Given the description of an element on the screen output the (x, y) to click on. 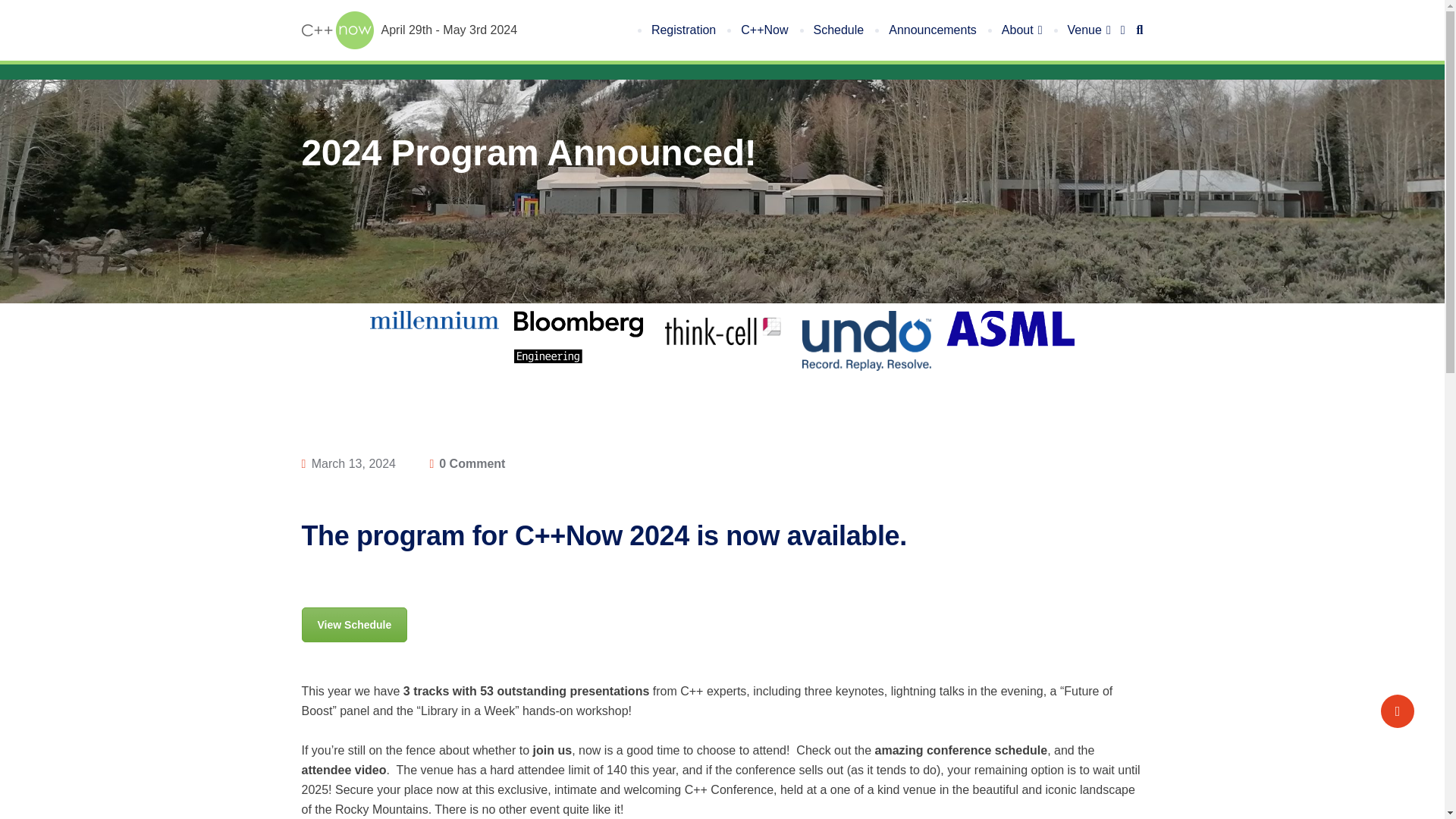
3 tracks with 53 outstanding presentations (526, 691)
Undo (866, 341)
Registration (681, 30)
Bloomberg Engineering (578, 337)
amazing conference schedule (961, 750)
millennium (434, 320)
attendee video (344, 770)
Schedule (837, 30)
View Schedule (354, 624)
Venue (1089, 30)
